Given the description of an element on the screen output the (x, y) to click on. 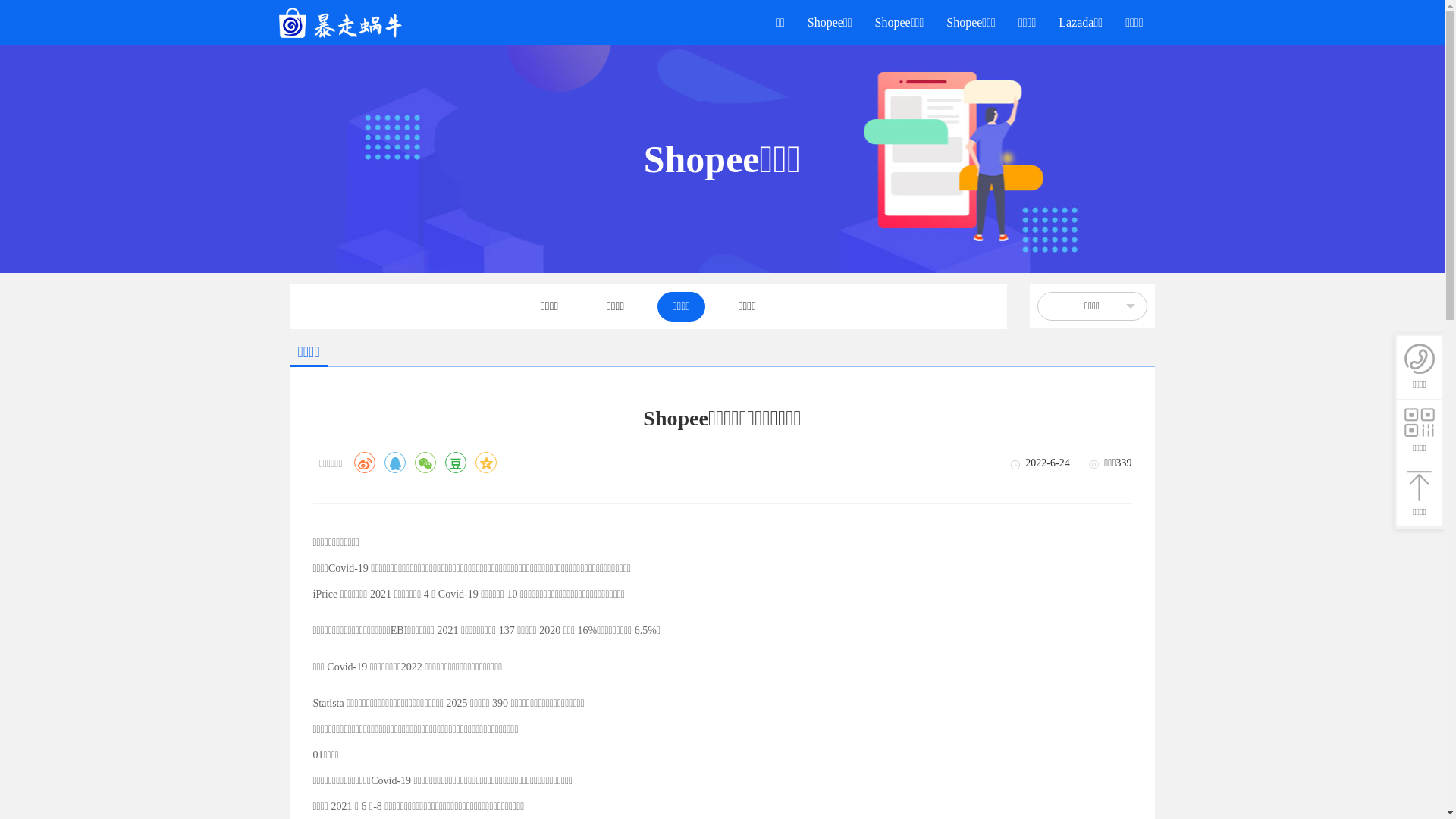
QQ Element type: text (394, 462)
